Given the description of an element on the screen output the (x, y) to click on. 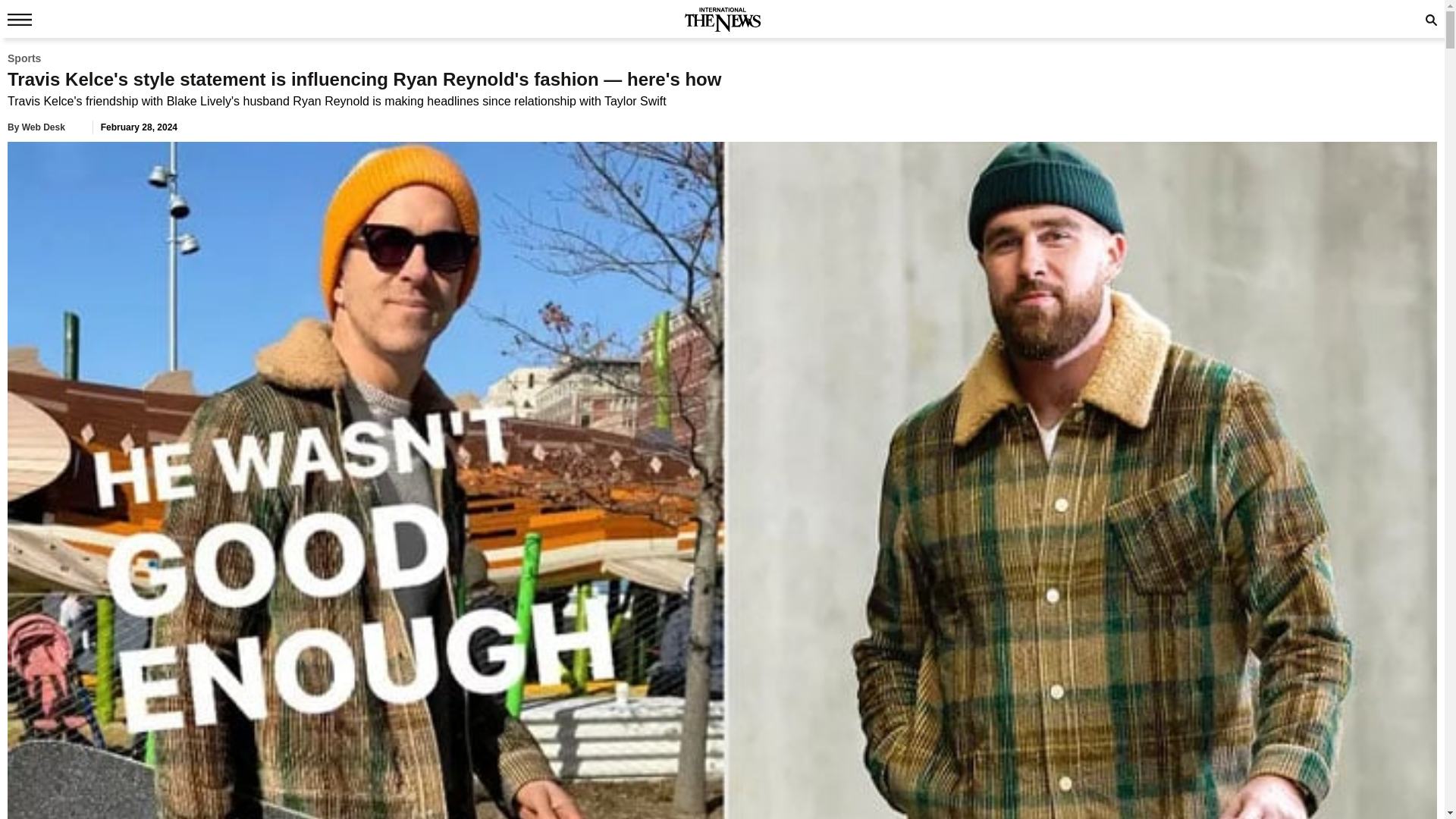
Sports (23, 58)
